Given the description of an element on the screen output the (x, y) to click on. 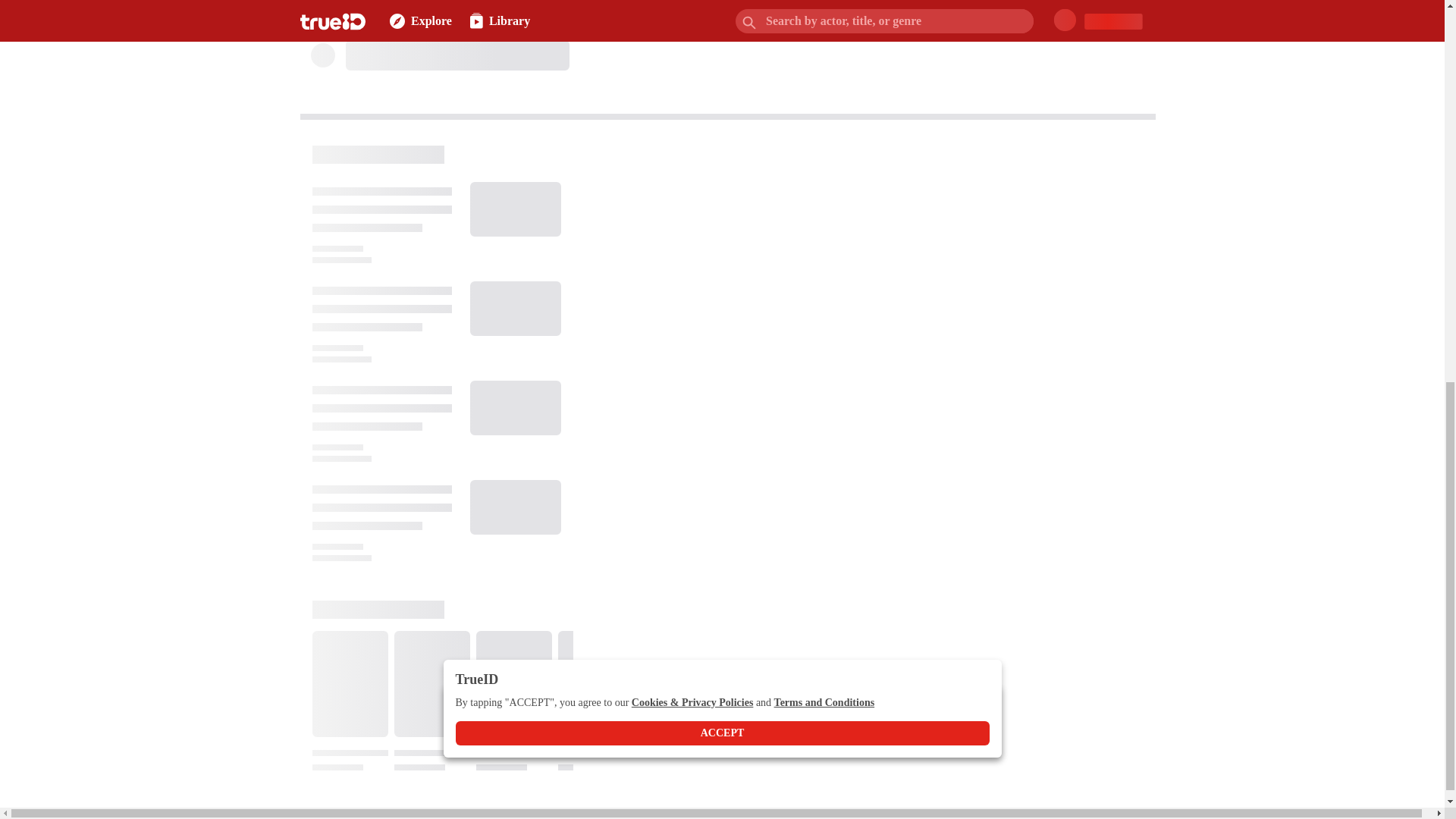
Loading... (451, 70)
Loading... (451, 14)
Loading... (443, 685)
Later (581, 3)
ACCEPT (721, 5)
RATE NOW (502, 5)
